Given the description of an element on the screen output the (x, y) to click on. 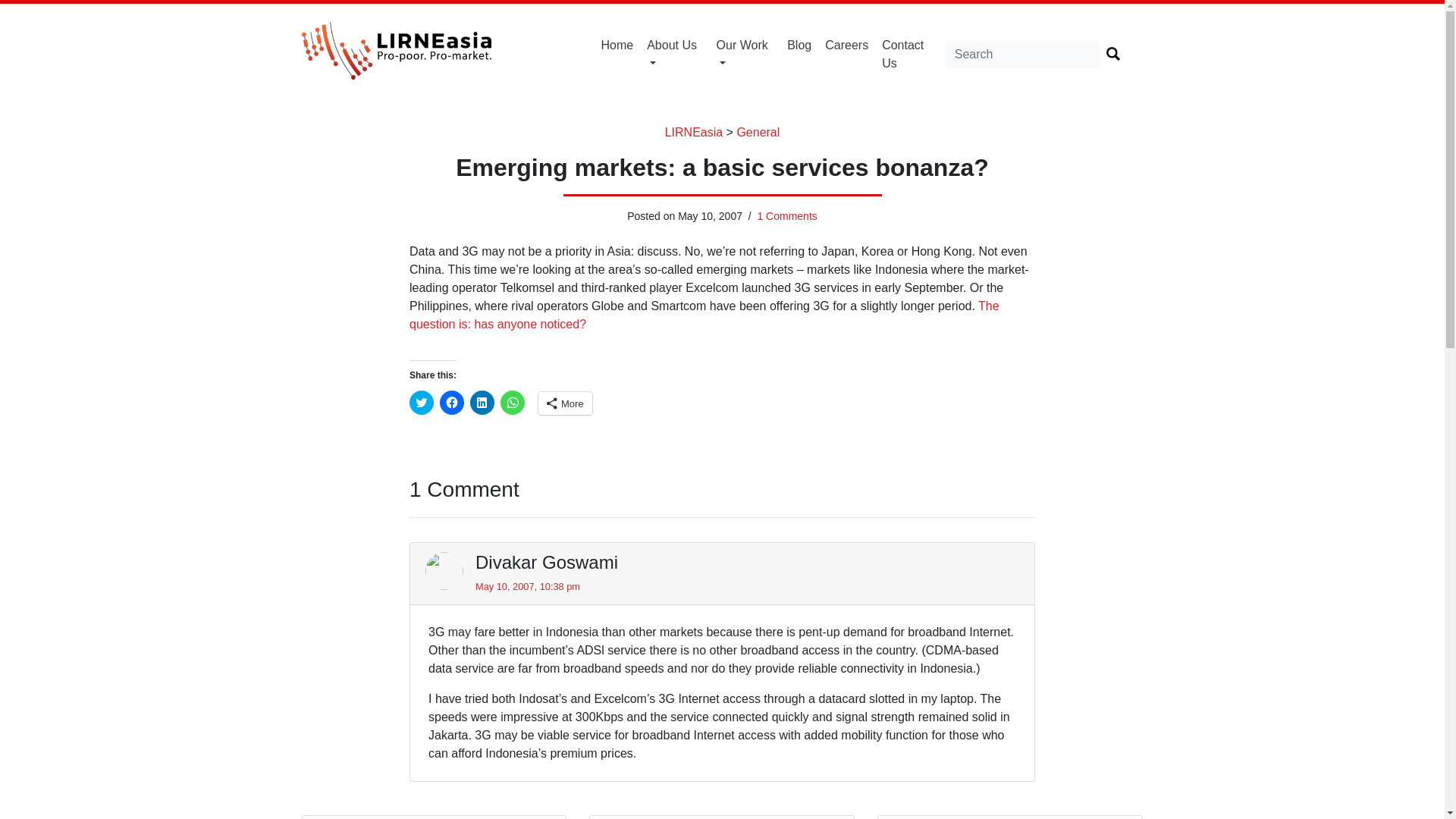
Search for: (1021, 53)
Contact us (909, 54)
Careers (846, 45)
Blog (799, 45)
Contact Us (909, 54)
About Us (674, 54)
1 Comments (786, 215)
General (757, 132)
Our Work (745, 54)
LIRNEasia (693, 132)
Home (617, 45)
Careers (846, 45)
Blog (799, 45)
Our Work (745, 54)
About us (674, 54)
